Given the description of an element on the screen output the (x, y) to click on. 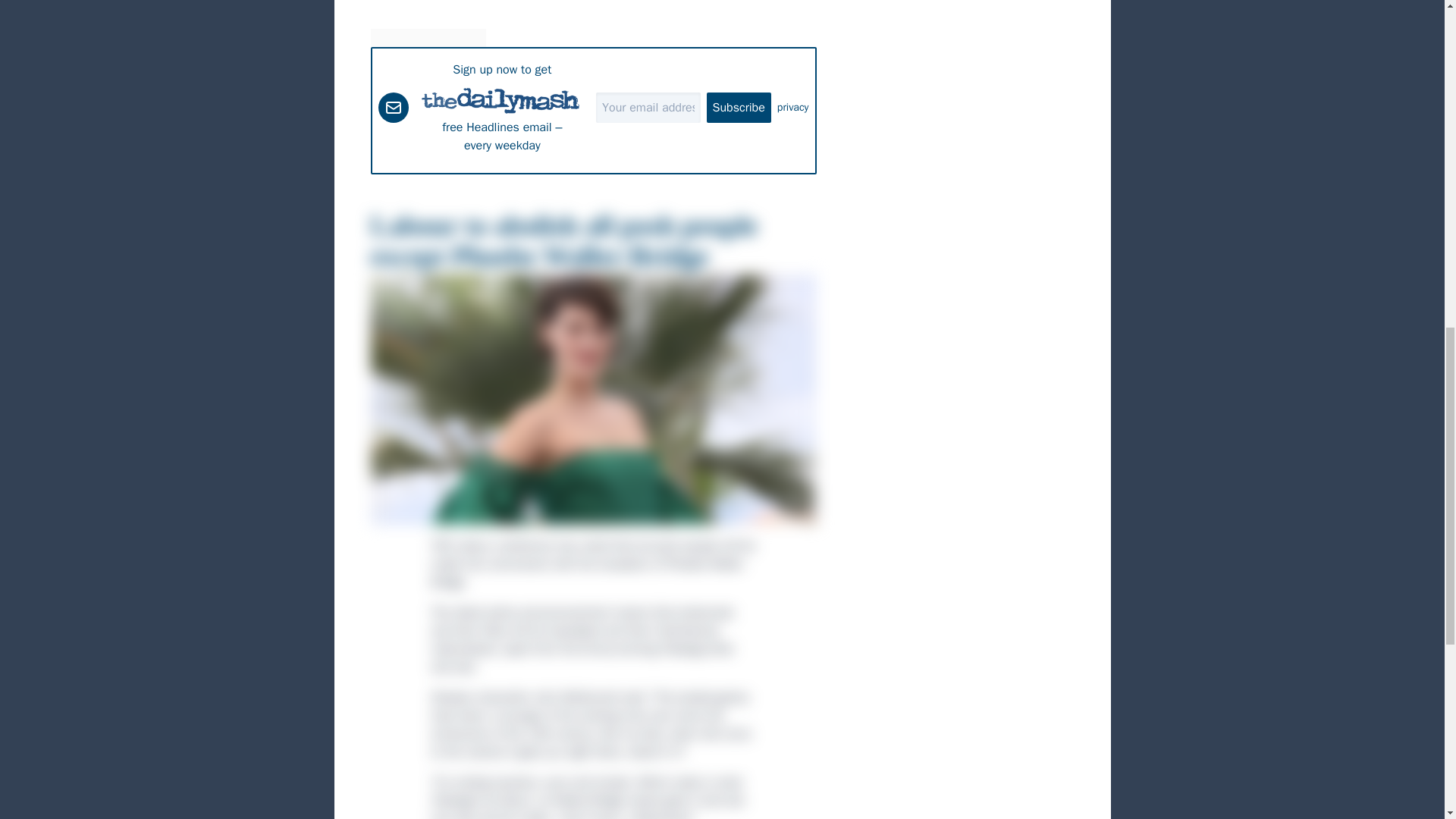
privacy (793, 107)
Subscribe (738, 107)
